Given the description of an element on the screen output the (x, y) to click on. 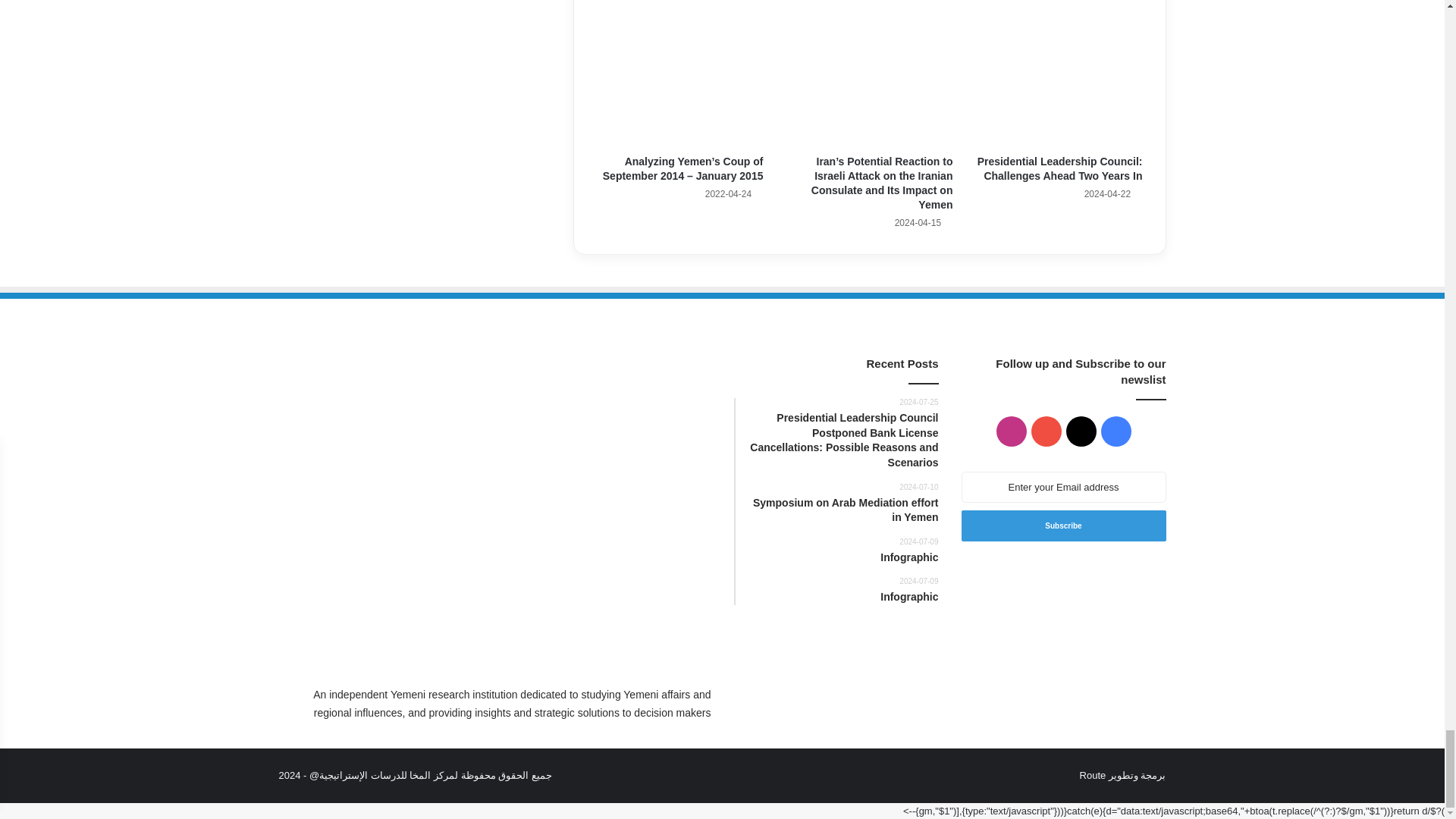
Subscribe (1063, 525)
